Given the description of an element on the screen output the (x, y) to click on. 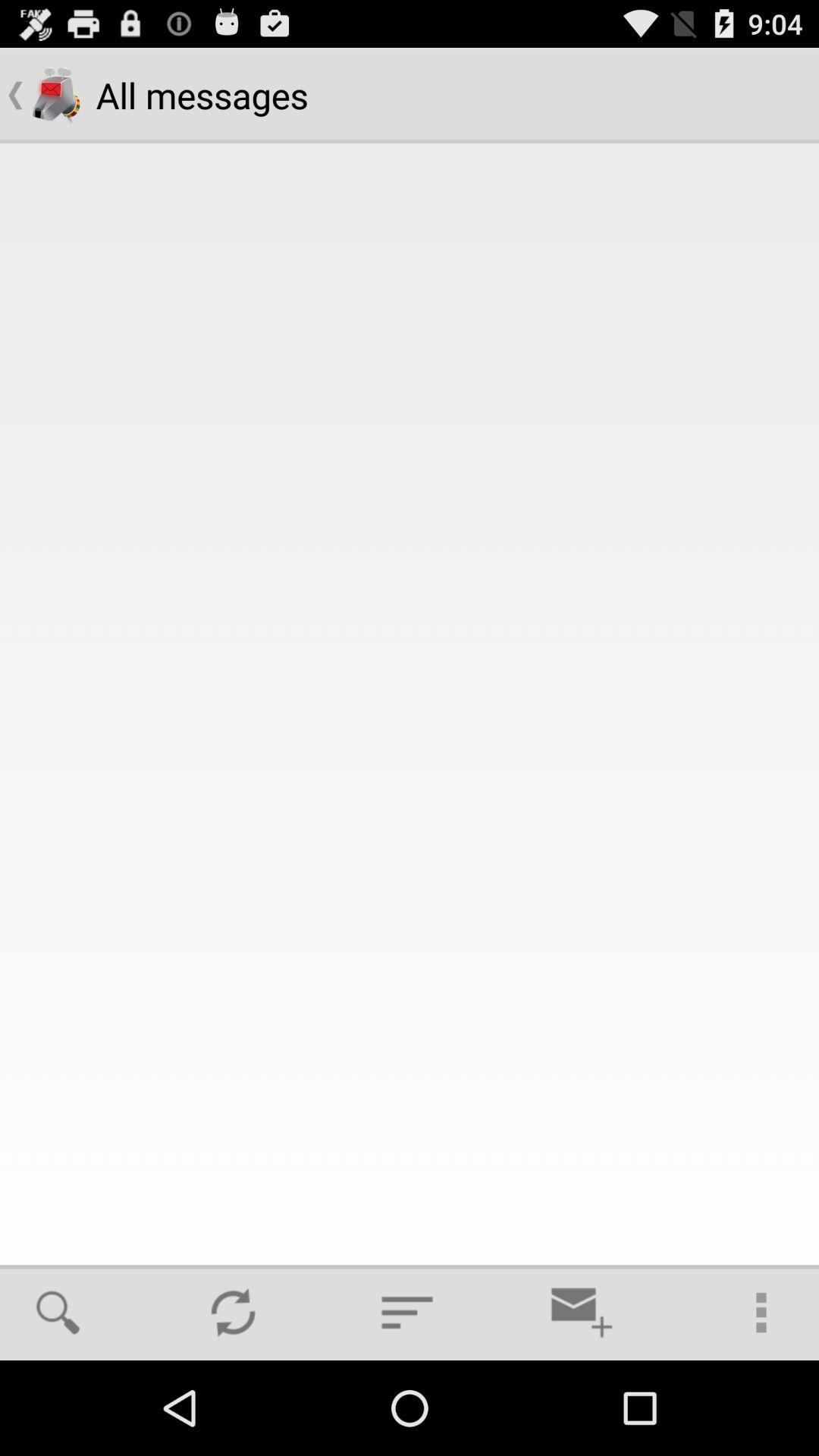
turn on the item at the bottom (407, 1312)
